Given the description of an element on the screen output the (x, y) to click on. 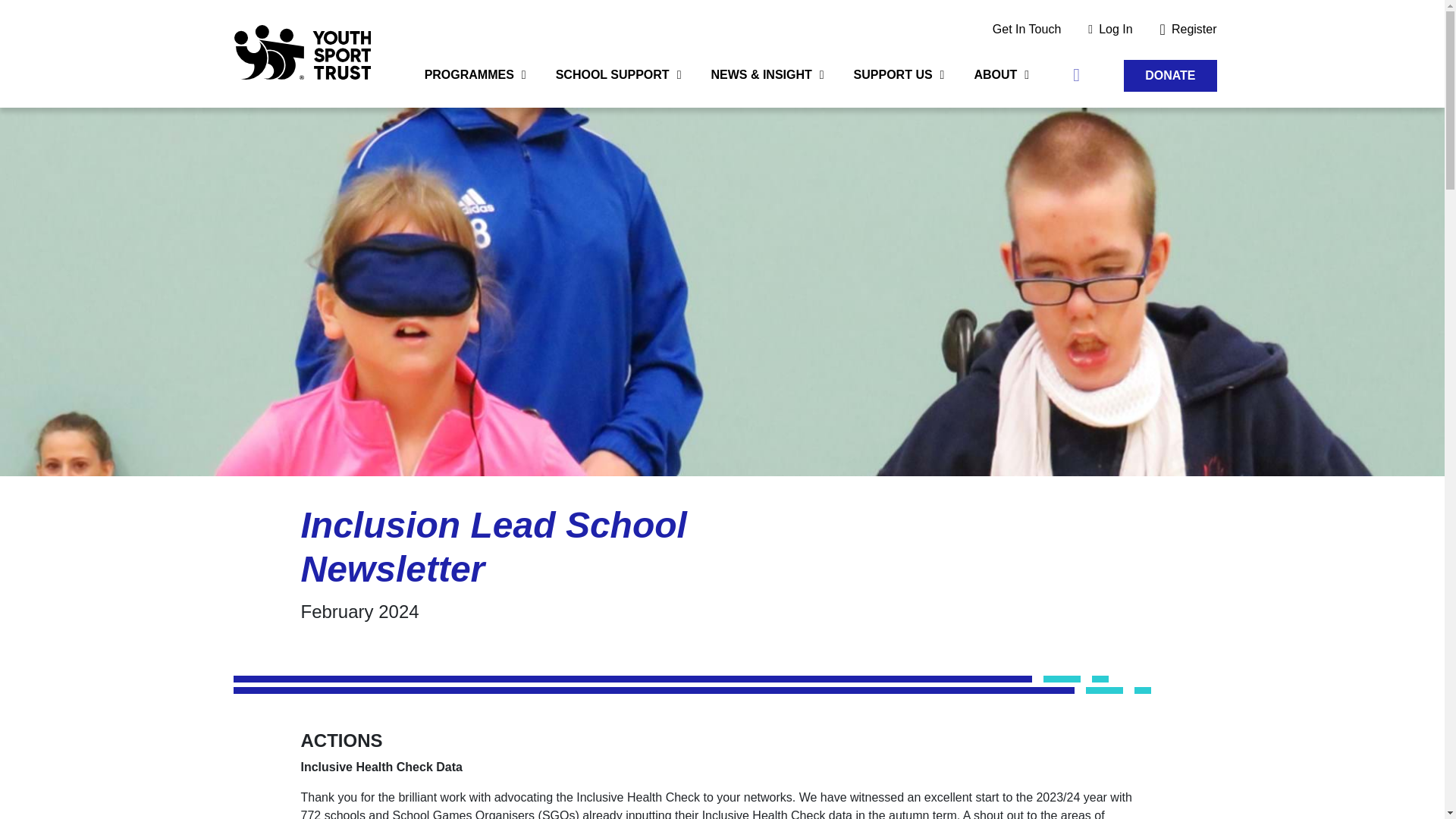
ABOUT (1001, 83)
PROGRAMMES (475, 83)
Youth Sport Trust (300, 53)
Log In (1109, 29)
SCHOOL SUPPORT (618, 83)
Get In Touch (1026, 29)
Register (1182, 29)
SUPPORT US (898, 83)
